Given the description of an element on the screen output the (x, y) to click on. 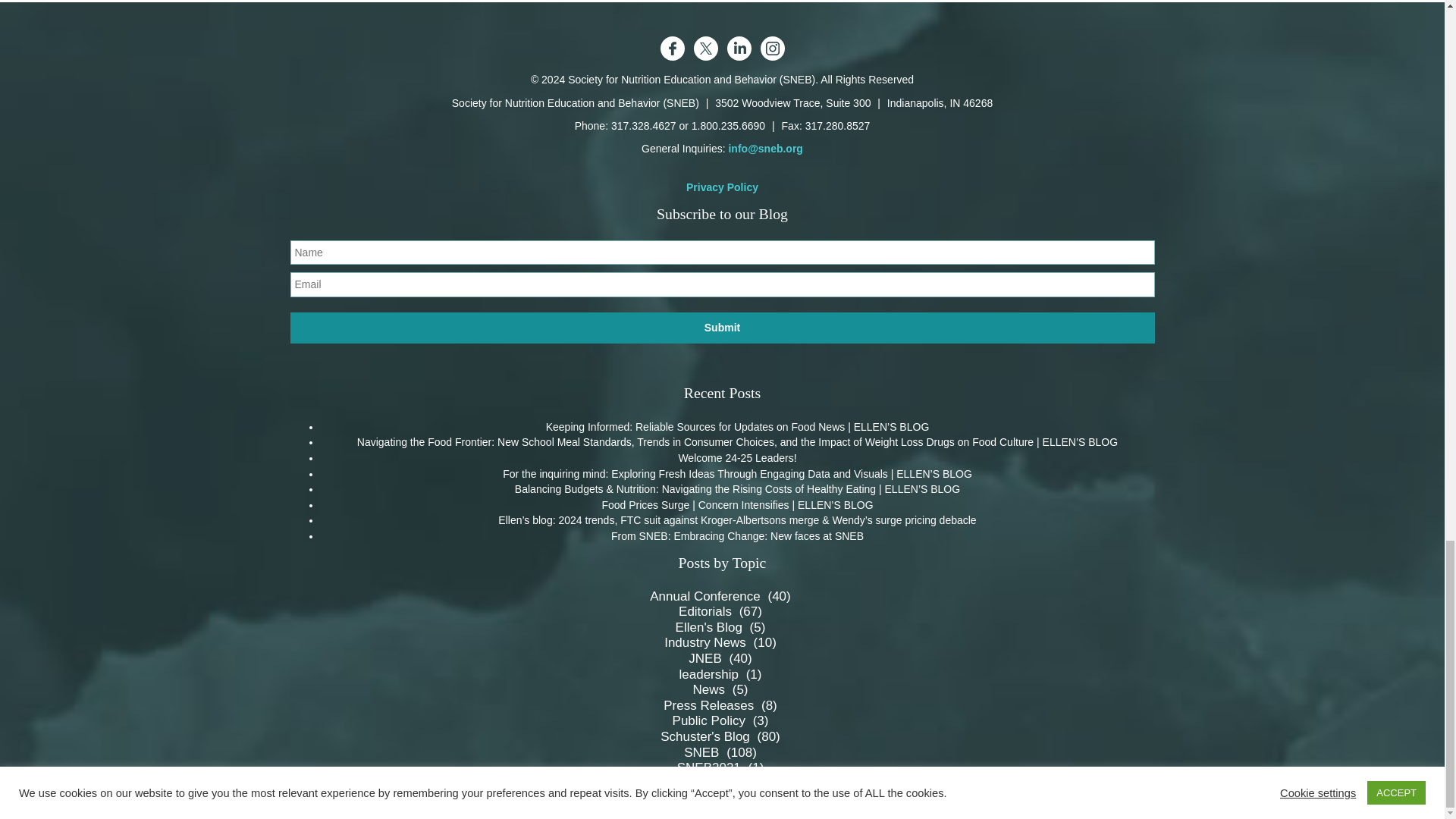
Submit (721, 327)
